Given the description of an element on the screen output the (x, y) to click on. 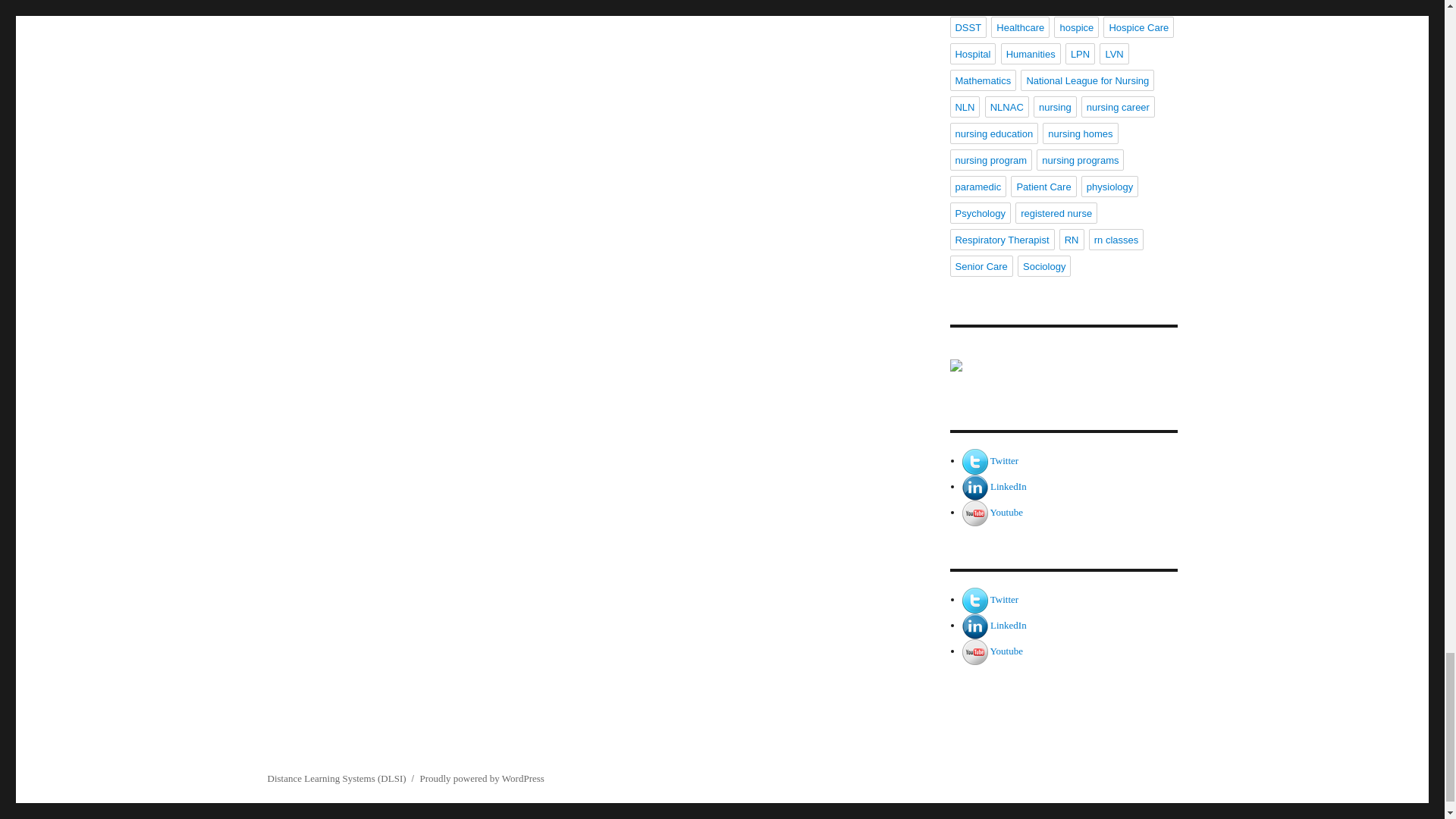
Distance Learning Systems (1062, 378)
Visit myYoutubeprofile (975, 650)
Visit myLinkedInprofile (975, 624)
Visit myYoutubeprofile (1006, 511)
Visit myLinkedInprofile (975, 486)
Visit myLinkedInprofile (1008, 624)
Visit myLinkedInprofile (1008, 486)
Visit myYoutubeprofile (1006, 650)
Visit myTwitterprofile (975, 599)
Visit myYoutubeprofile (975, 511)
